Given the description of an element on the screen output the (x, y) to click on. 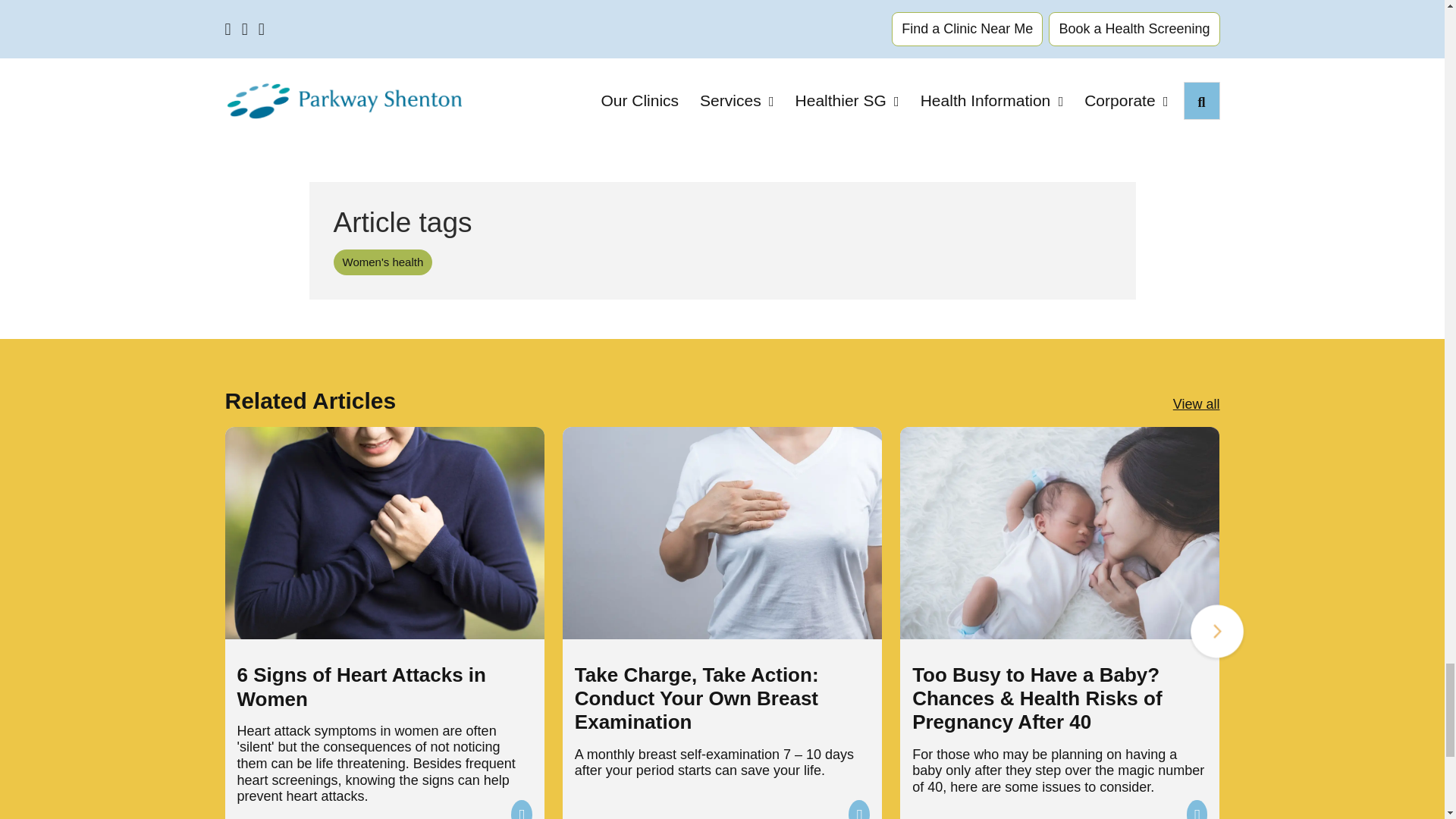
Make an appointment (1006, 41)
